Given the description of an element on the screen output the (x, y) to click on. 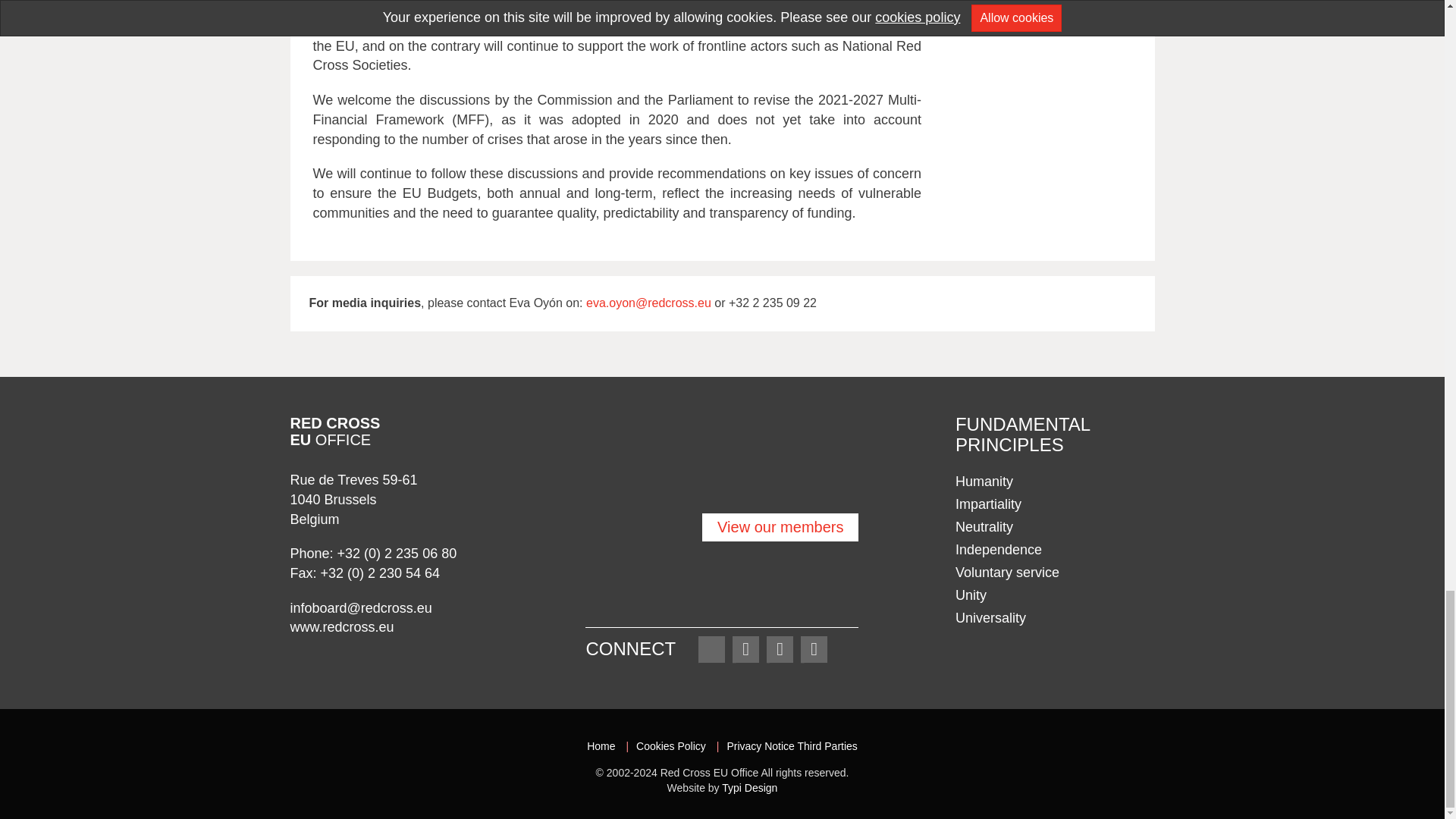
FUNDAMENTAL PRINCIPLES (1022, 434)
X (711, 649)
Cookies Policy (671, 746)
Facebook (745, 649)
Instagram (813, 649)
www.redcross.eu (341, 626)
LinkedIn (780, 649)
Privacy Notice Third Parties (791, 746)
Home (600, 746)
View our members (722, 520)
